Given the description of an element on the screen output the (x, y) to click on. 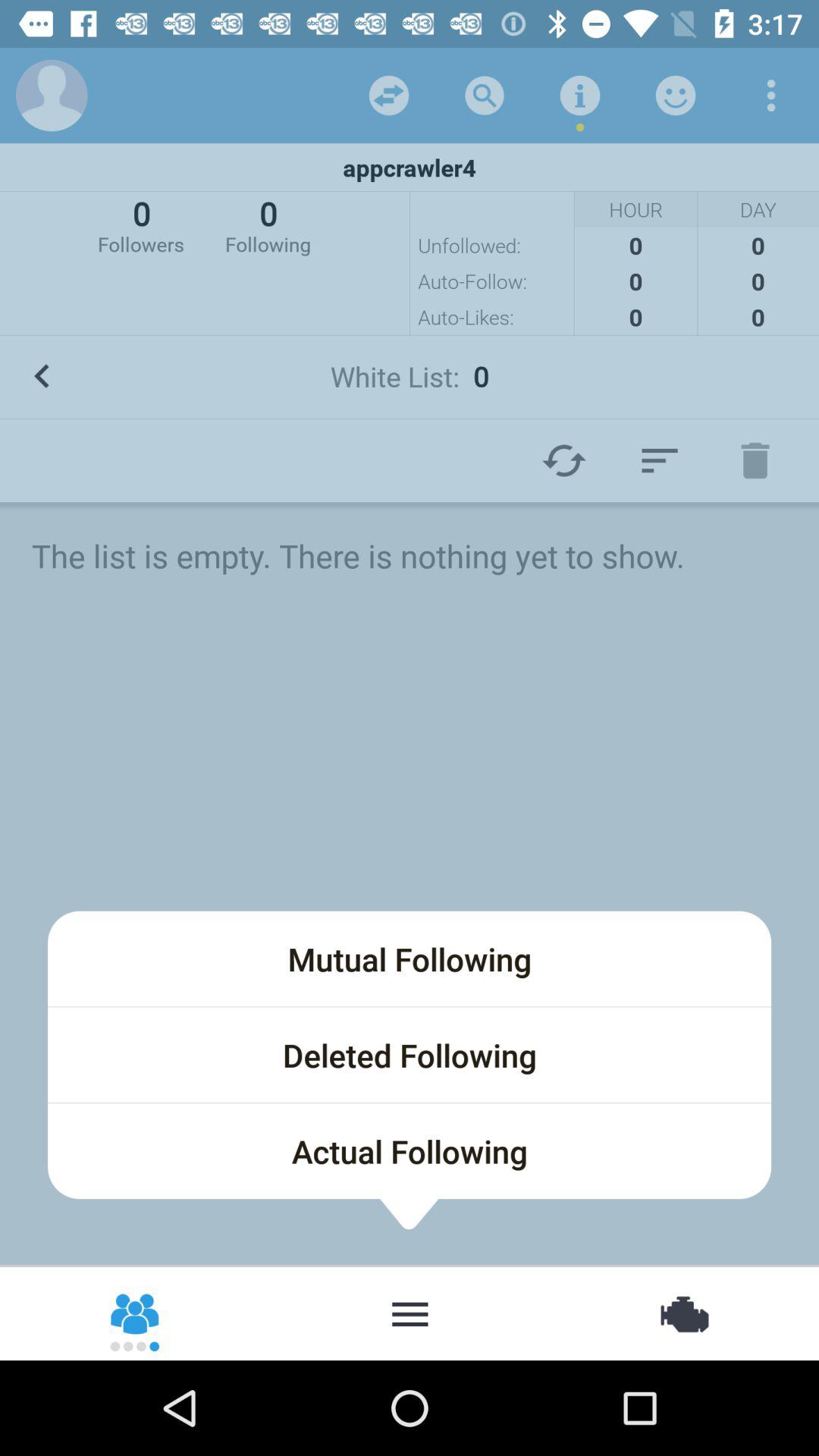
choose 0
following item (268, 224)
